Given the description of an element on the screen output the (x, y) to click on. 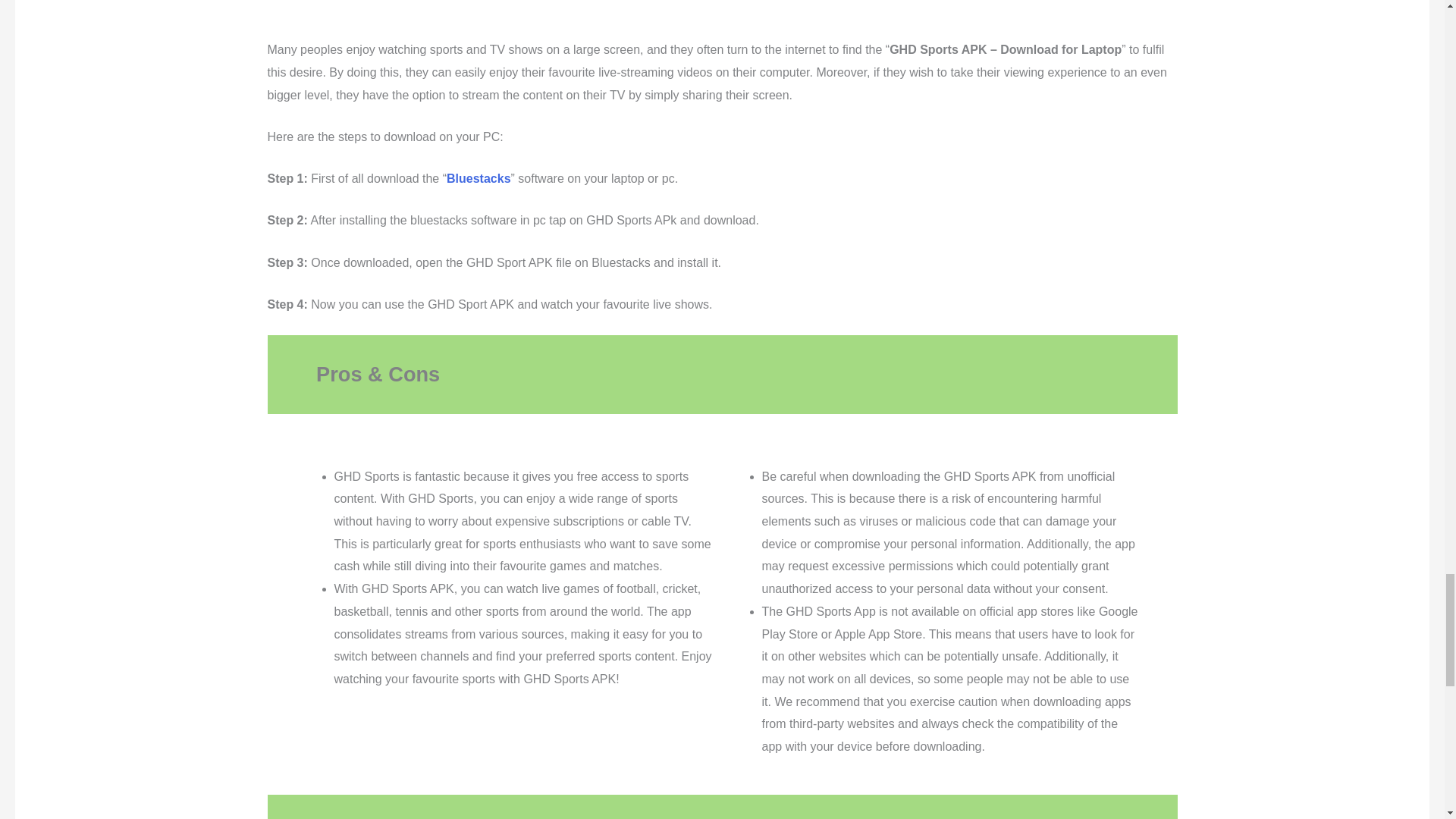
Bluestacks (478, 178)
